Given the description of an element on the screen output the (x, y) to click on. 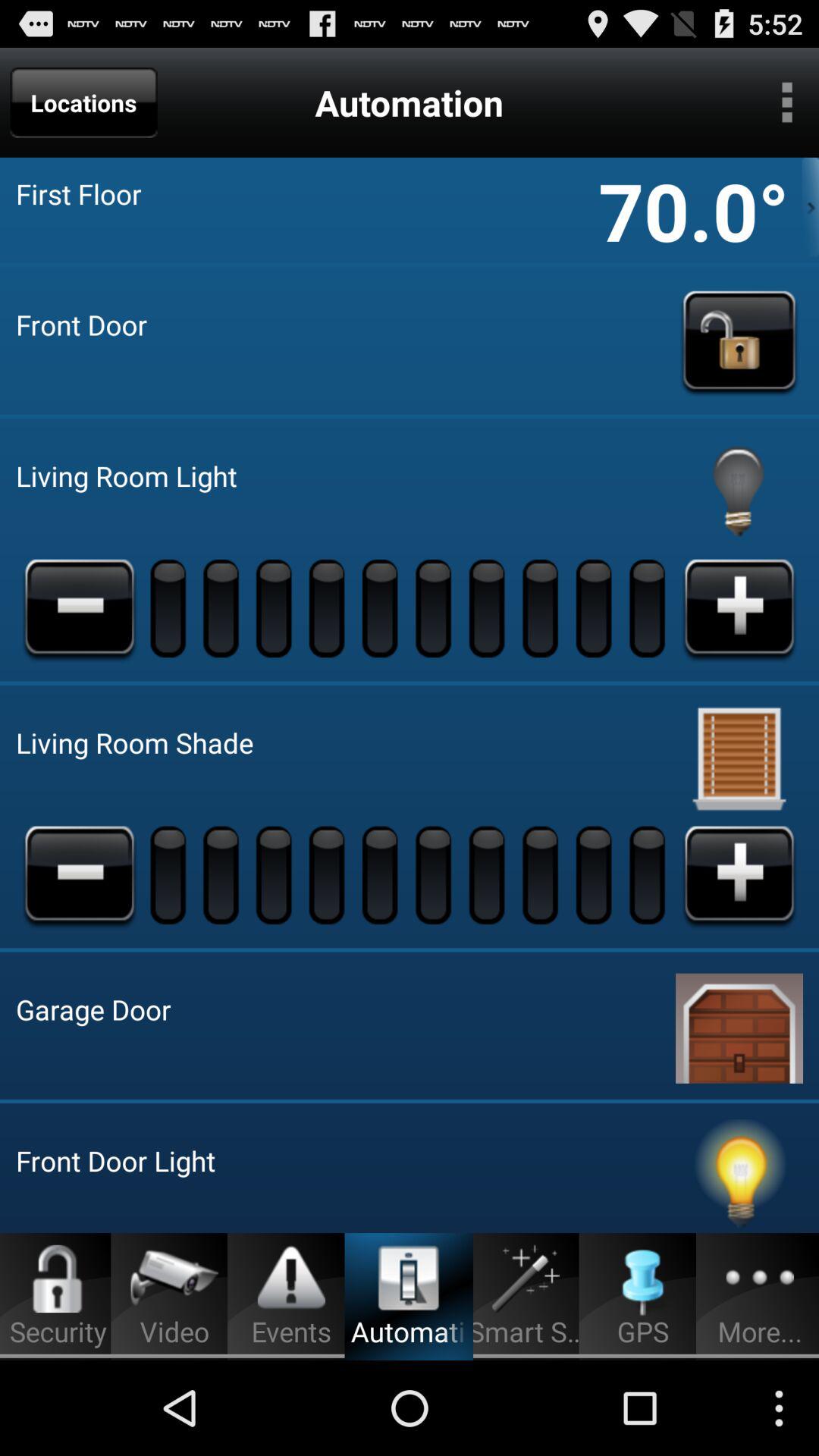
turn light off (739, 1176)
